Given the description of an element on the screen output the (x, y) to click on. 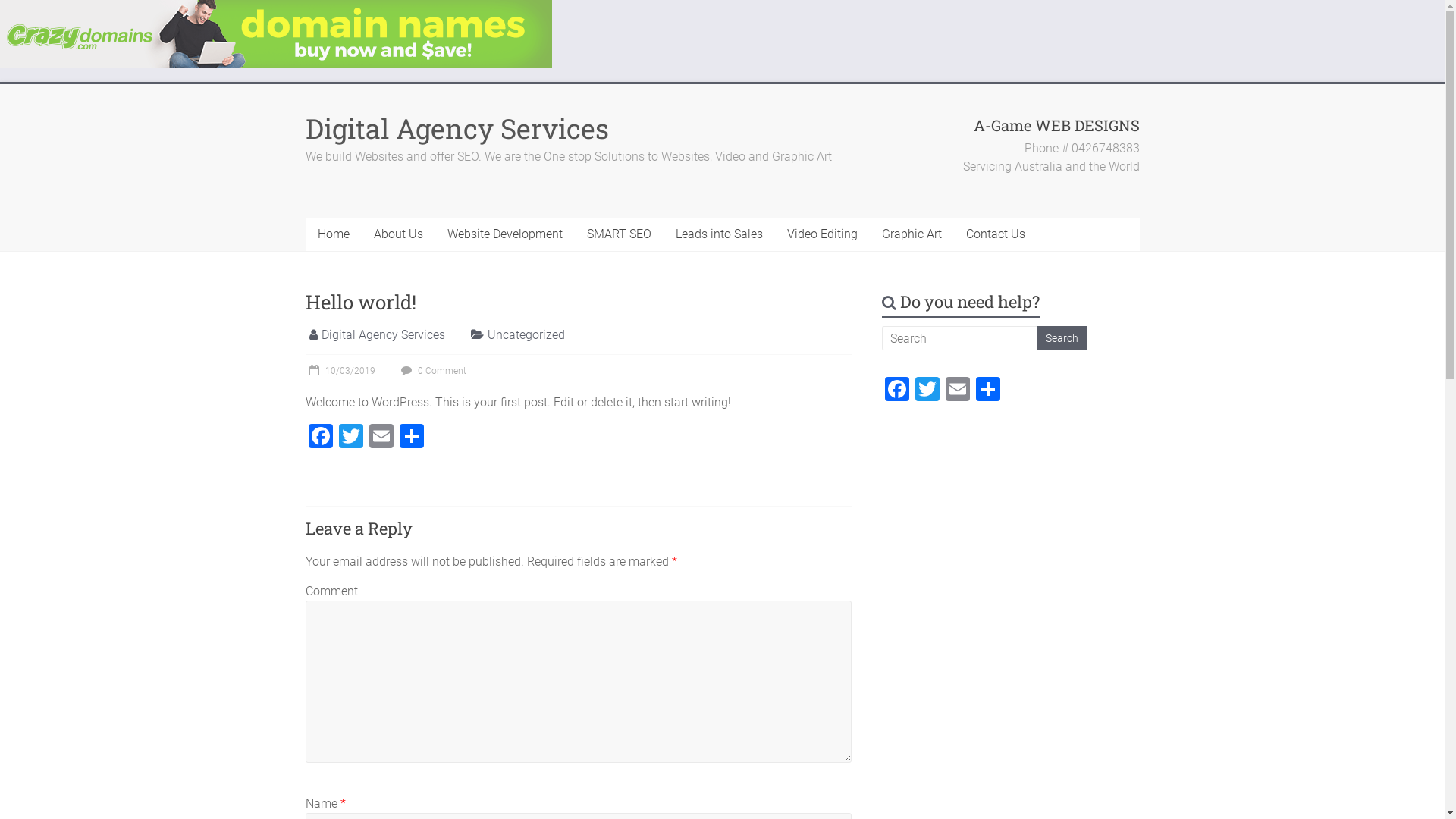
Search Element type: text (1060, 338)
Email Element type: text (957, 390)
About Us Element type: text (397, 234)
Email Element type: text (380, 437)
Leads into Sales Element type: text (718, 234)
Uncategorized Element type: text (525, 334)
Facebook Element type: text (896, 390)
SMART SEO Element type: text (618, 234)
Twitter Element type: text (927, 390)
Share Element type: text (410, 437)
Contact Us Element type: text (995, 234)
Digital Agency Services Element type: text (456, 127)
Video Editing Element type: text (822, 234)
10/03/2019 Element type: text (339, 370)
Website Development Element type: text (504, 234)
Facebook Element type: text (319, 437)
Twitter Element type: text (350, 437)
0 Comment Element type: text (431, 370)
Share Element type: text (987, 390)
Graphic Art Element type: text (911, 234)
Digital Agency Services Element type: text (383, 334)
Home Element type: text (332, 234)
